Given the description of an element on the screen output the (x, y) to click on. 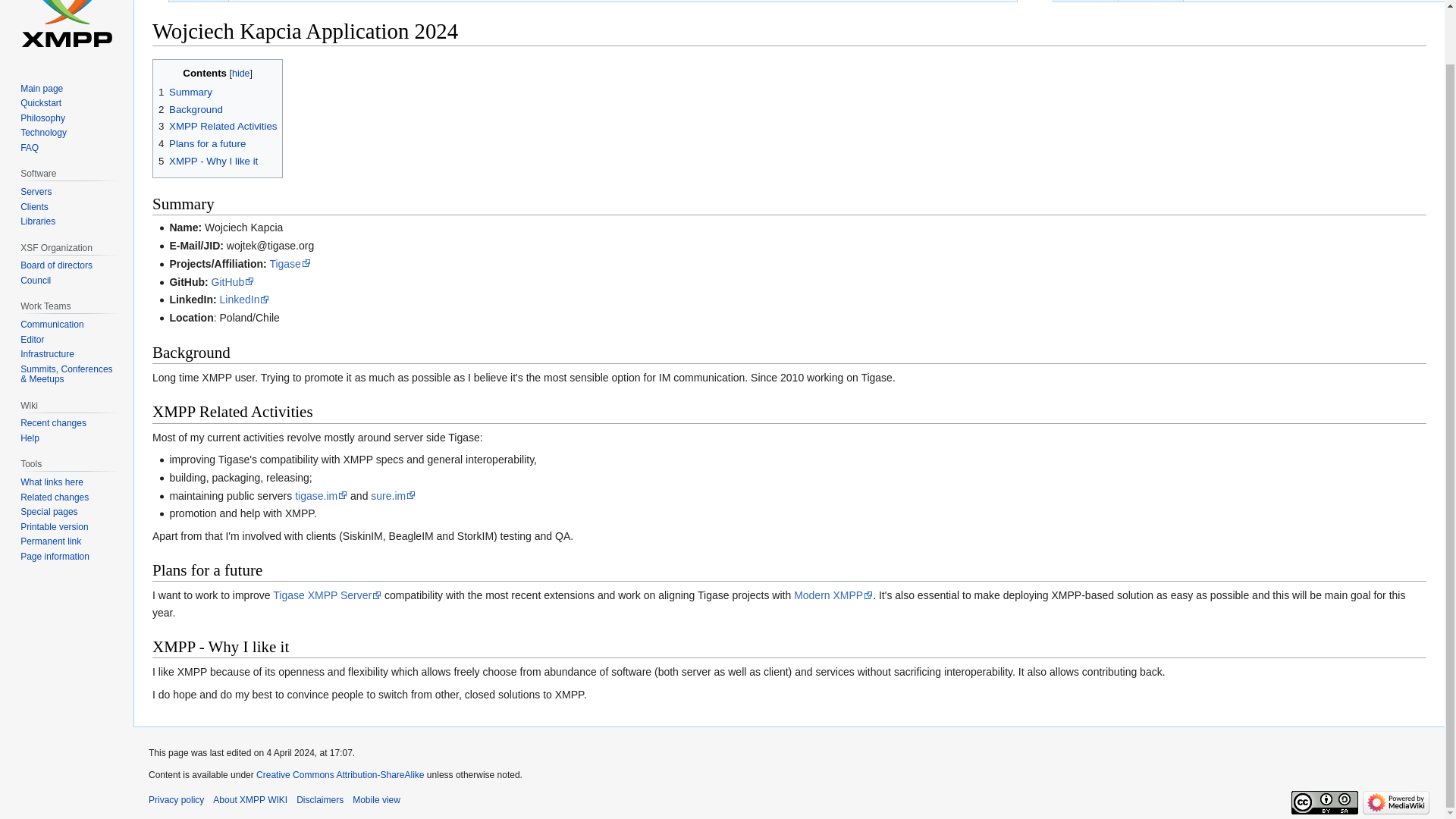
View source (1085, 1)
3 XMPP Related Activities (217, 125)
View history (1150, 1)
Modern XMPP (832, 594)
Read (1034, 1)
Libraries (37, 221)
Technology (43, 132)
Main page (41, 88)
sure.im (392, 495)
5 XMPP - Why I like it (207, 161)
